Given the description of an element on the screen output the (x, y) to click on. 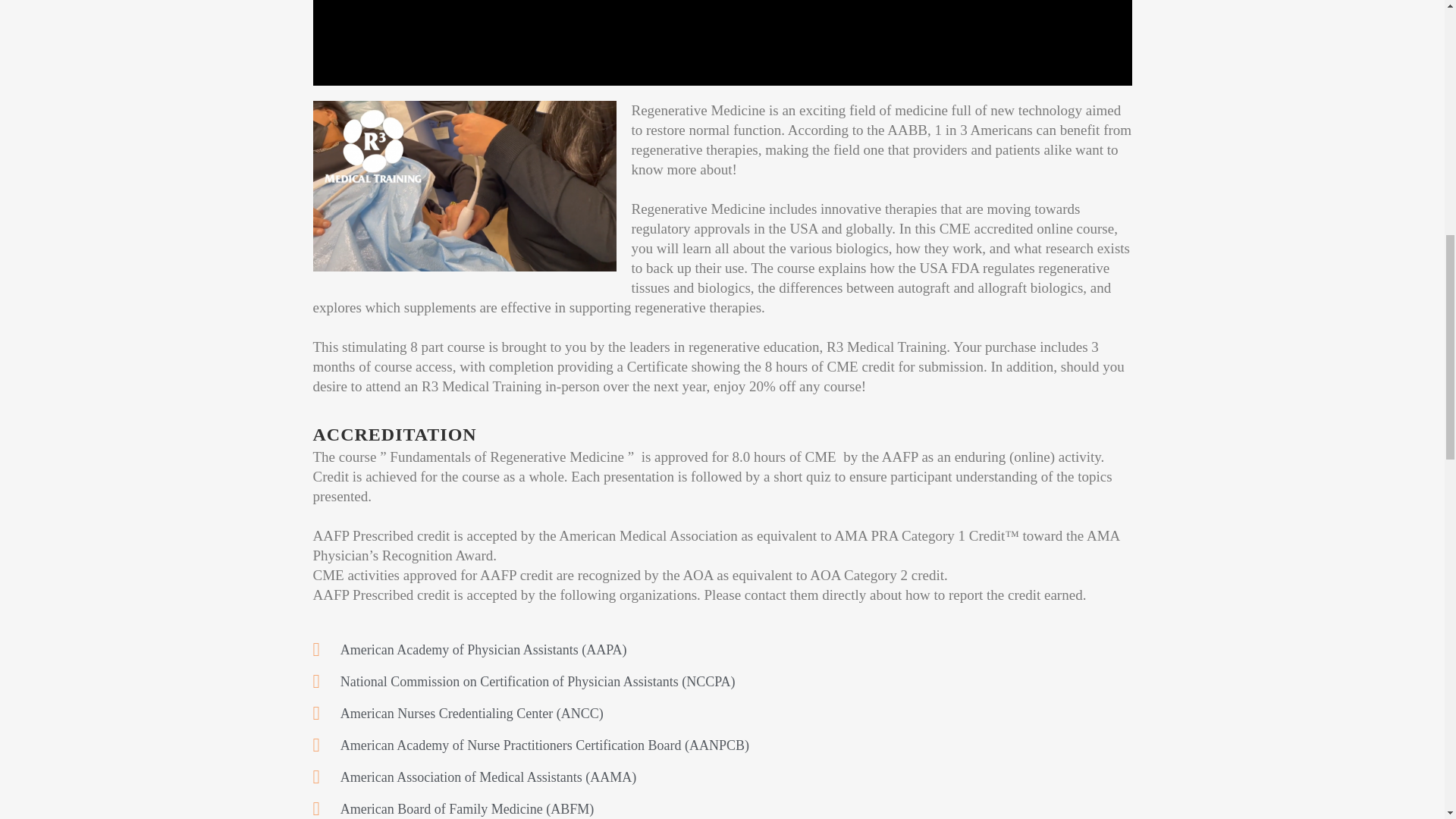
vimeo Video Player (722, 43)
